Given the description of an element on the screen output the (x, y) to click on. 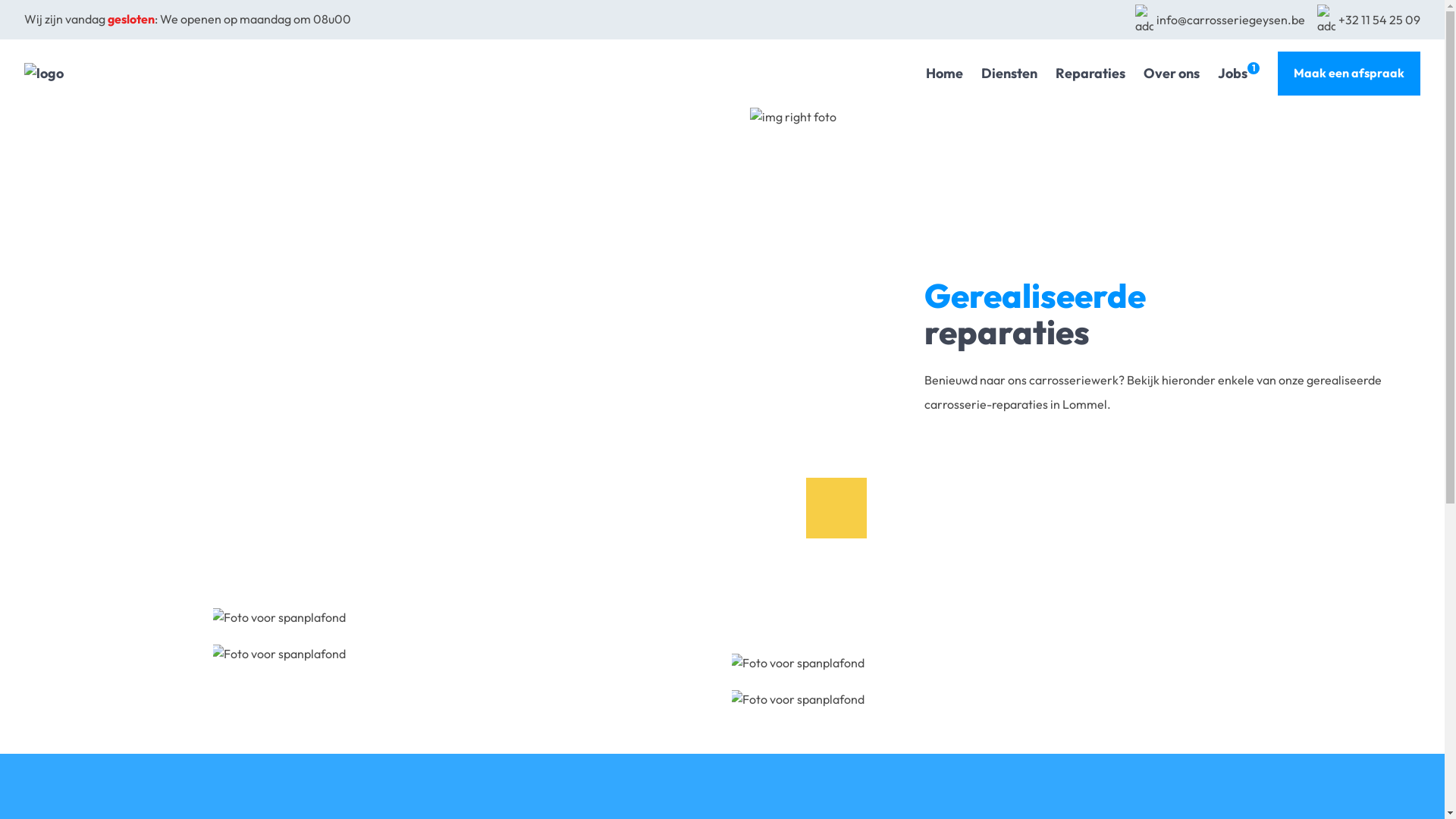
Reparaties Element type: text (1090, 73)
Home Element type: text (944, 73)
Maak een afspraak Element type: text (1348, 73)
+32 11 54 25 09 Element type: text (1368, 19)
info@carrosseriegeysen.be Element type: text (1220, 19)
Diensten Element type: text (1009, 73)
Jobs
1 Element type: text (1238, 73)
Over ons Element type: text (1171, 73)
